Given the description of an element on the screen output the (x, y) to click on. 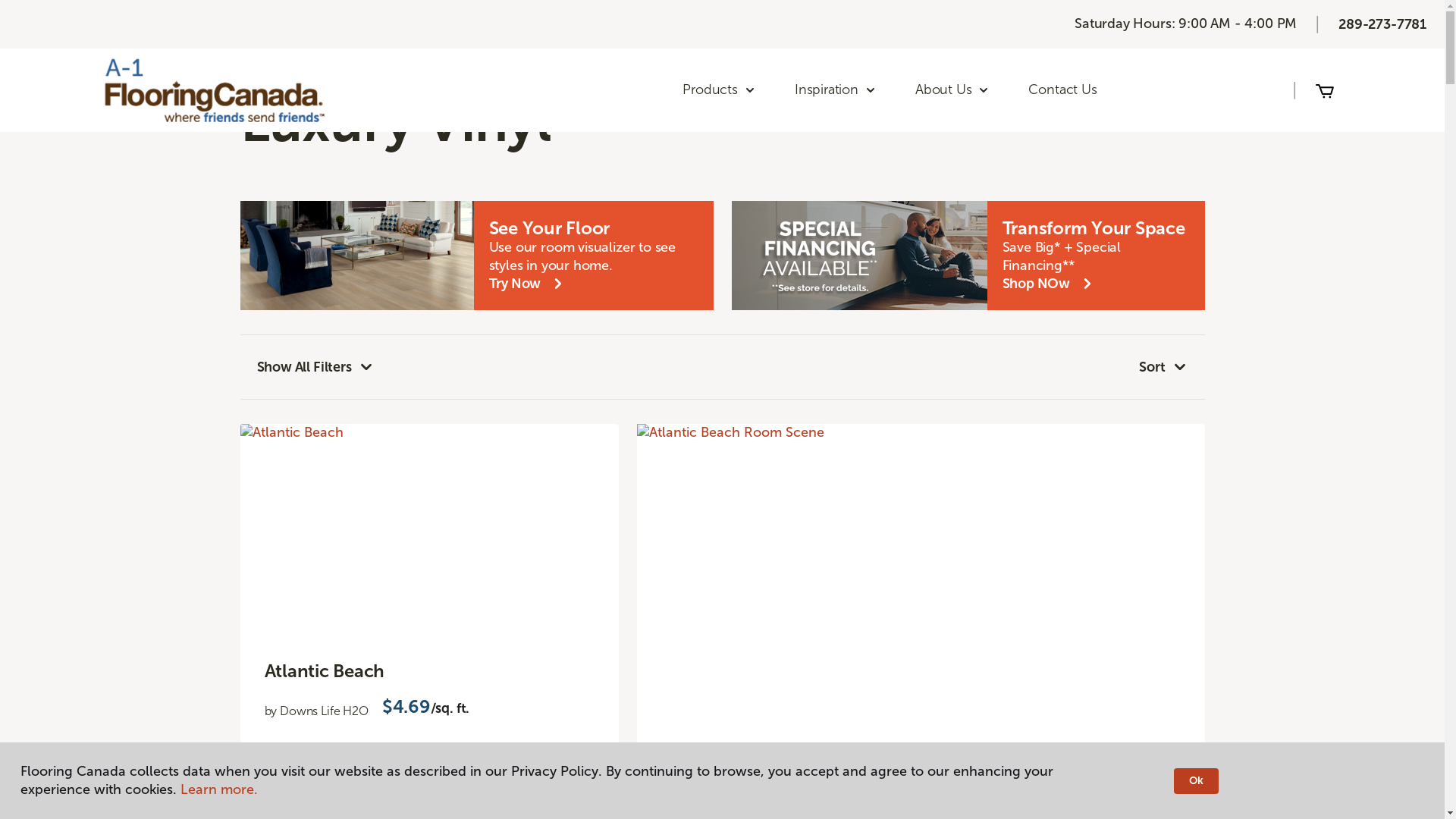
Shop NOw Element type: text (1049, 283)
Try Now Element type: text (527, 283)
Atlantic Beach Element type: text (428, 671)
289-273-7781 Element type: text (1382, 24)
About Us Element type: text (952, 90)
Show All Filters Element type: text (314, 366)
(0 items) Element type: text (1324, 90)
Ok Element type: text (1195, 780)
Flooring Canada Element type: text (277, 30)
Inspiration Element type: text (835, 90)
Products Element type: text (363, 30)
Shop Now Element type: text (296, 799)
Learn more. Element type: text (218, 789)
Sort Element type: text (1163, 366)
Contact Us Element type: text (1062, 90)
Products Element type: text (718, 90)
+1 Element type: text (451, 760)
